Given the description of an element on the screen output the (x, y) to click on. 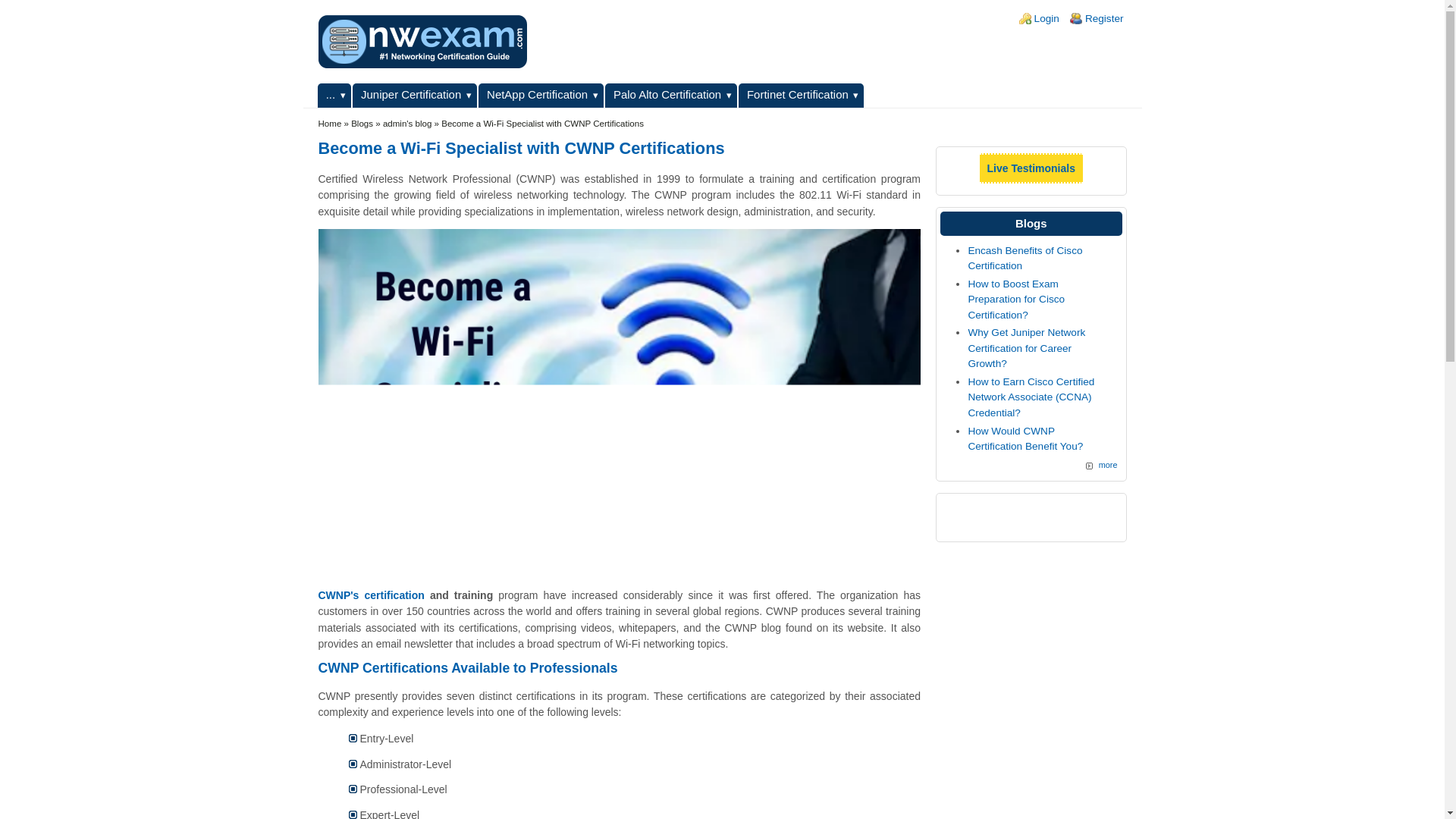
... (333, 95)
Register (1104, 18)
Other Certification (333, 95)
Login (1046, 18)
Skip to search (32, 0)
